Given the description of an element on the screen output the (x, y) to click on. 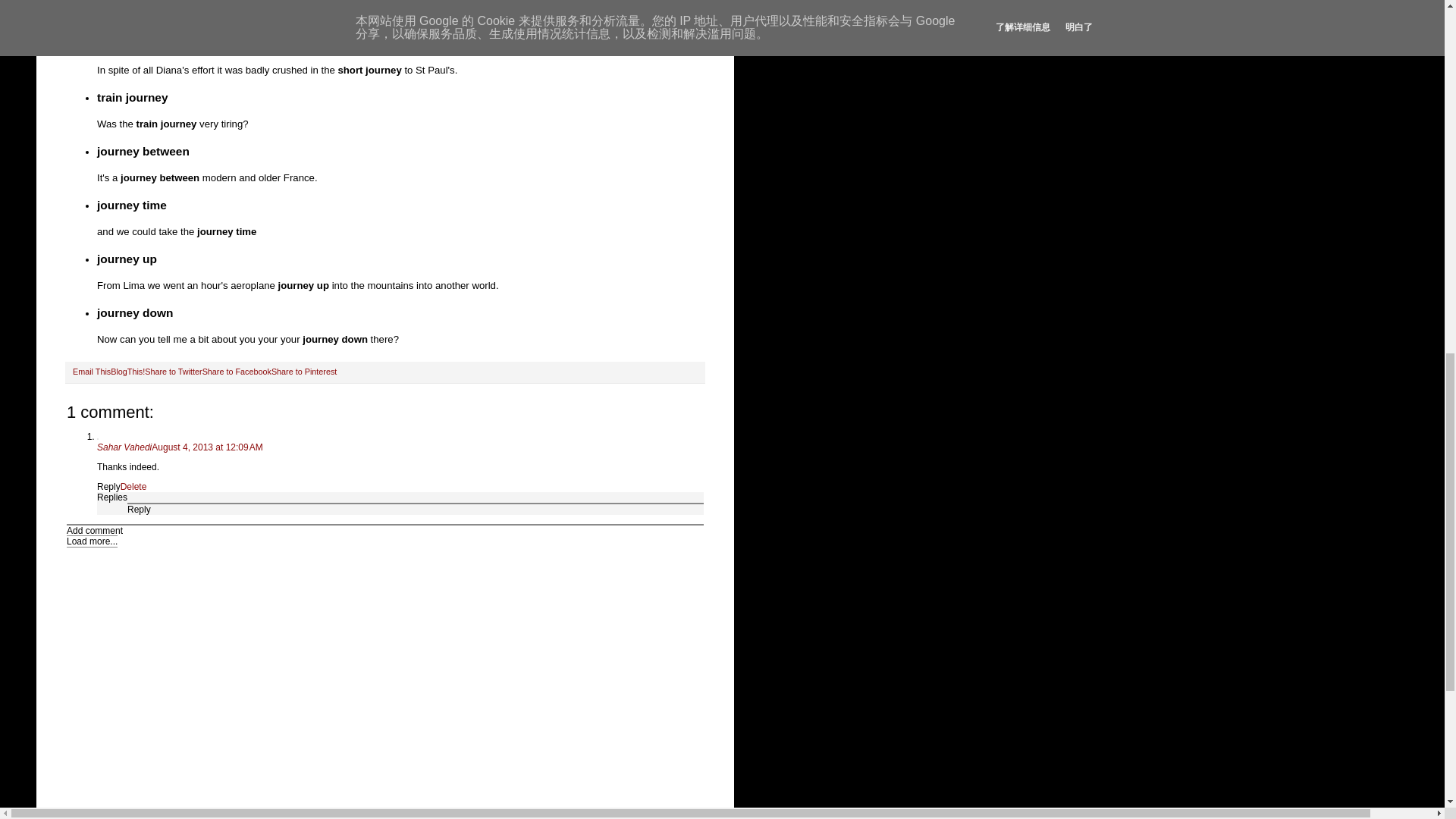
Share to Pinterest (303, 370)
Sahar Vahedi (124, 447)
BlogThis! (127, 370)
Delete (133, 486)
Load more... (91, 541)
Email This (91, 370)
Share to Twitter (173, 370)
Add comment (94, 530)
Reply (108, 486)
Share to Facebook (236, 370)
Email This (91, 370)
Share to Pinterest (303, 370)
Share to Facebook (236, 370)
Reply (139, 509)
